Given the description of an element on the screen output the (x, y) to click on. 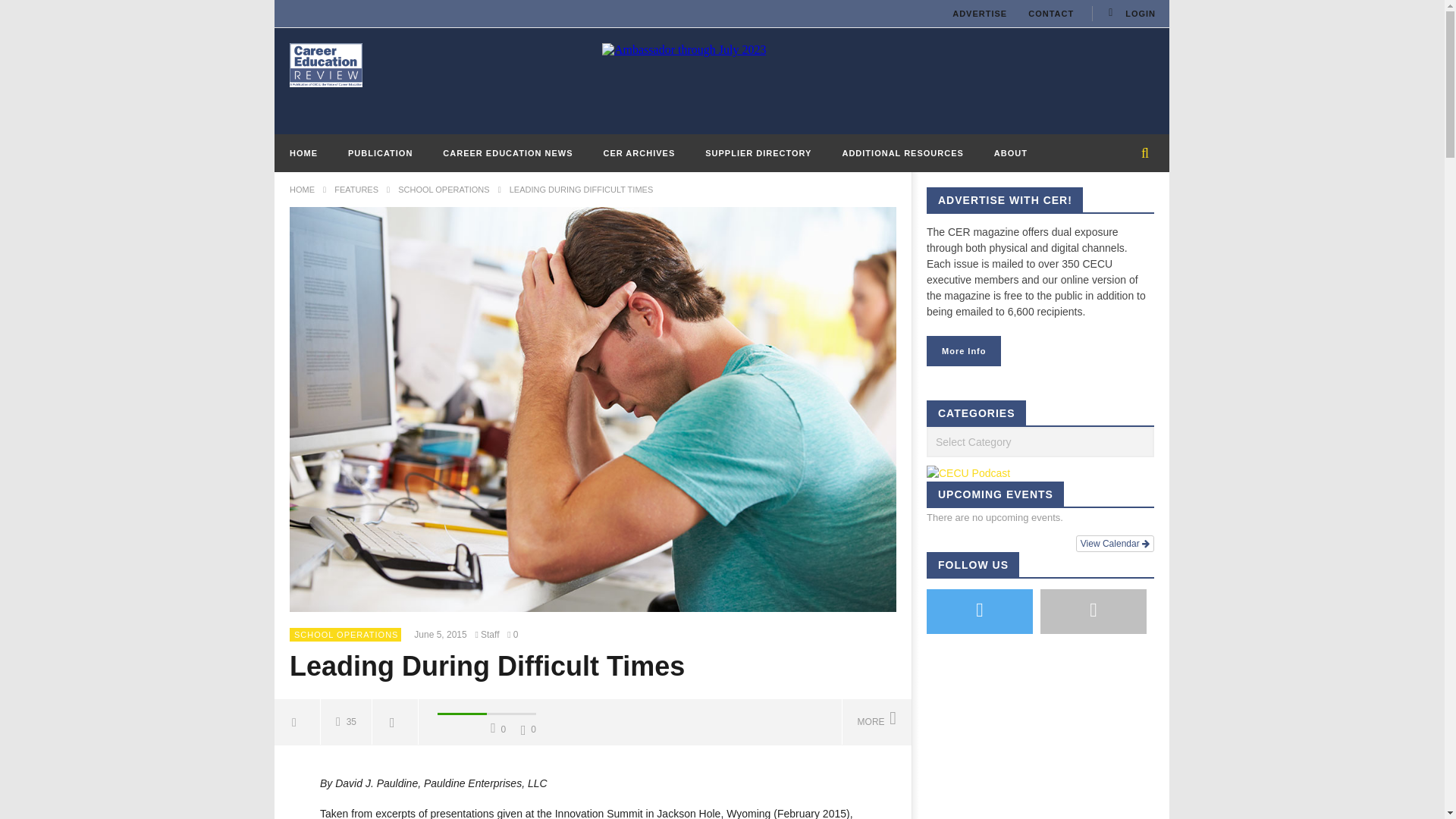
ADVERTISE (979, 13)
LOGIN (1130, 13)
HOME (304, 152)
Career Education Review (325, 64)
CAREER EDUCATION NEWS (508, 152)
CER ARCHIVES (639, 152)
Posts by Staff (490, 634)
CONTACT (1050, 13)
PUBLICATION (380, 152)
View all posts in School Operations (345, 634)
